Given the description of an element on the screen output the (x, y) to click on. 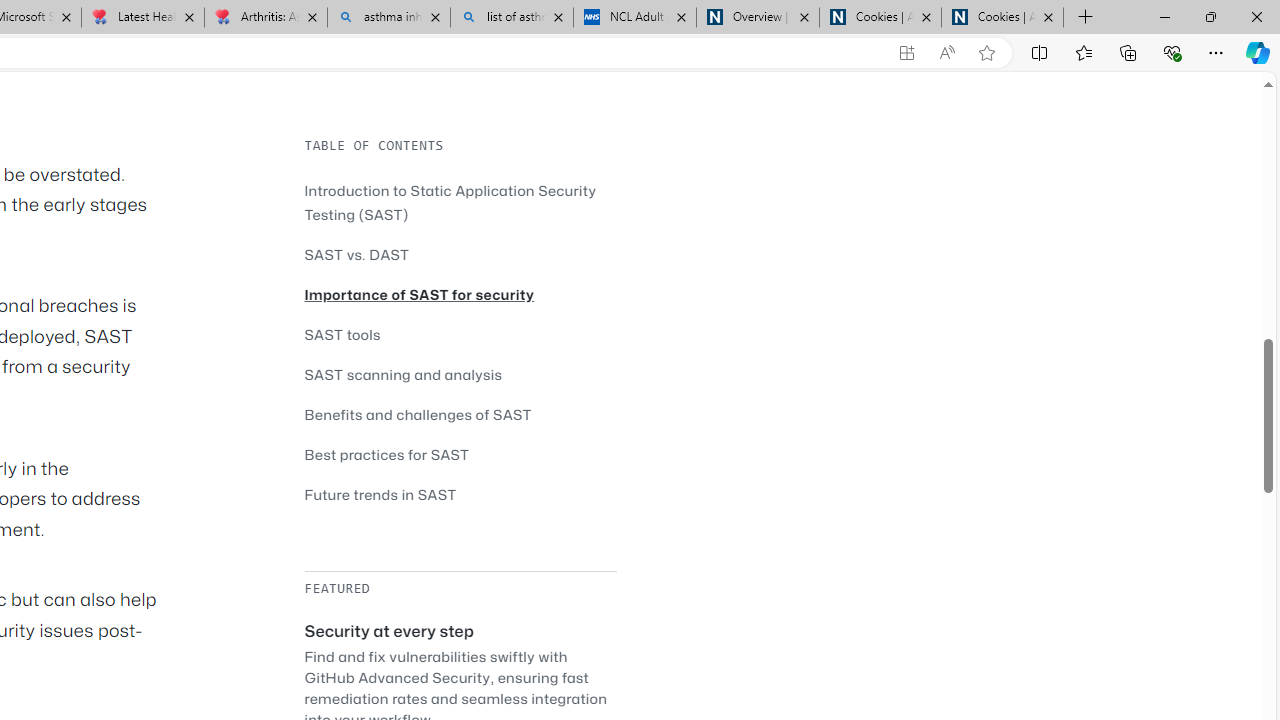
App available. Install GitHub (906, 53)
SAST tools (342, 334)
Introduction to Static Application Security Testing (SAST) (450, 202)
